Given the description of an element on the screen output the (x, y) to click on. 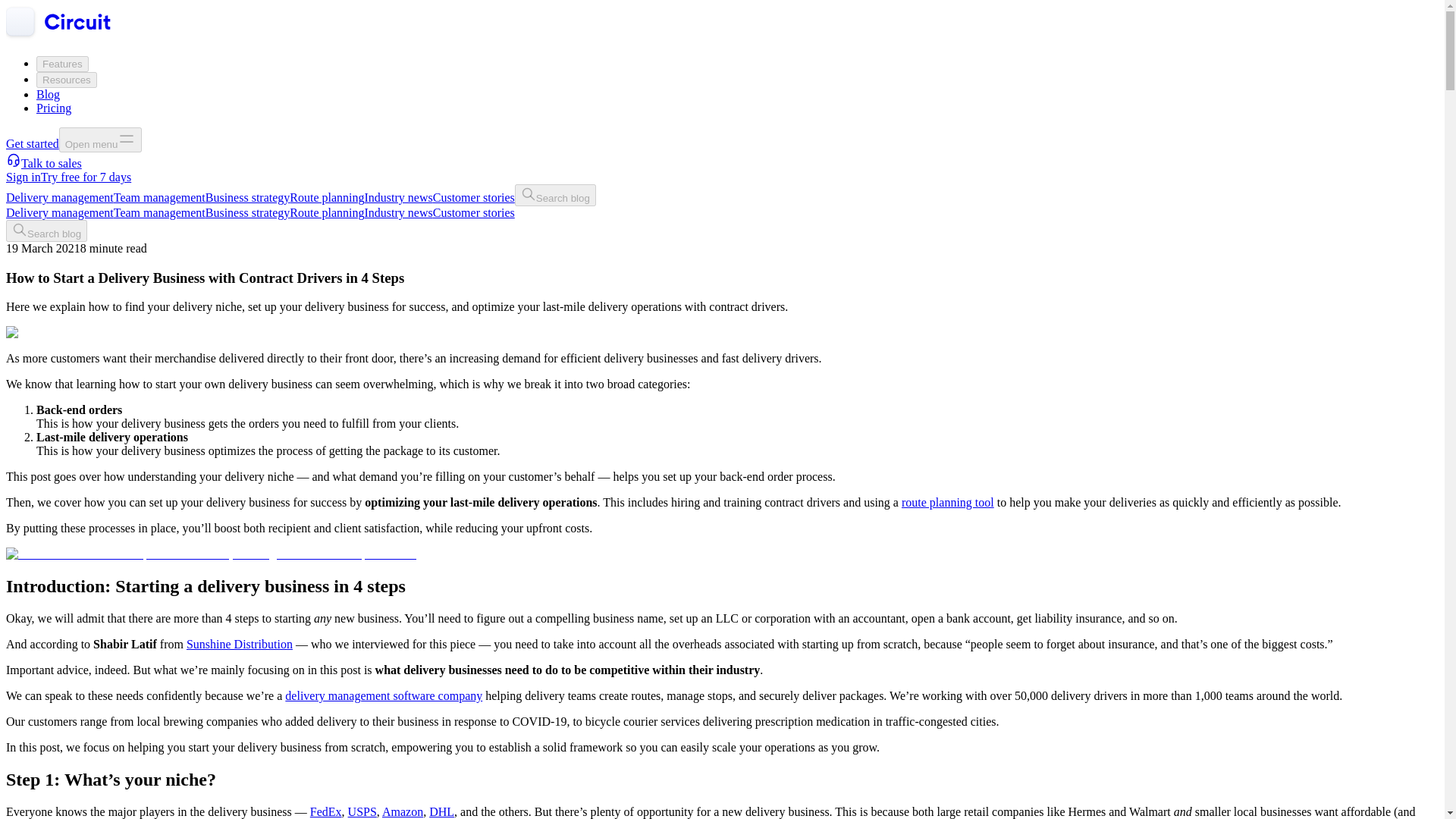
Route planning (326, 196)
Circuit logo (57, 22)
Get started (32, 143)
Team management (159, 196)
delivery management software company (383, 695)
USPS (362, 811)
Amazon (402, 811)
Sunshine Distribution (239, 644)
Business strategy (247, 212)
Resources (66, 79)
Industry news (398, 196)
DHL (441, 811)
route planning tool (947, 502)
Sign in (22, 176)
Customer stories (473, 196)
